Given the description of an element on the screen output the (x, y) to click on. 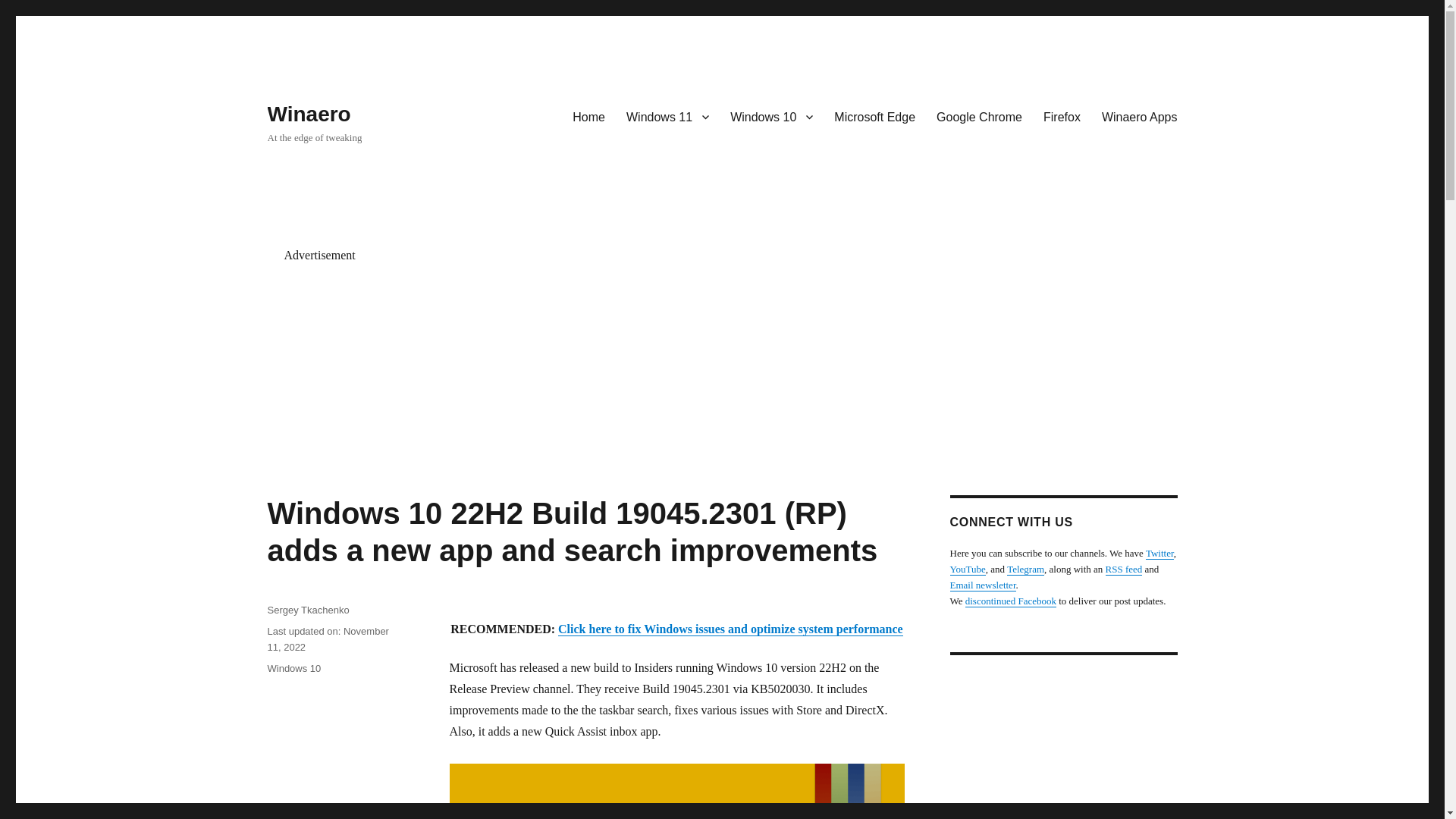
Winaero on YouTube (967, 568)
Google Chrome (979, 116)
Subscribe with email (981, 584)
YouTube (967, 568)
Windows 10 (293, 668)
Home (588, 116)
Sergey Tkachenko (307, 609)
Microsoft Edge (875, 116)
Windows 10 (771, 116)
Firefox (1061, 116)
